Given the description of an element on the screen output the (x, y) to click on. 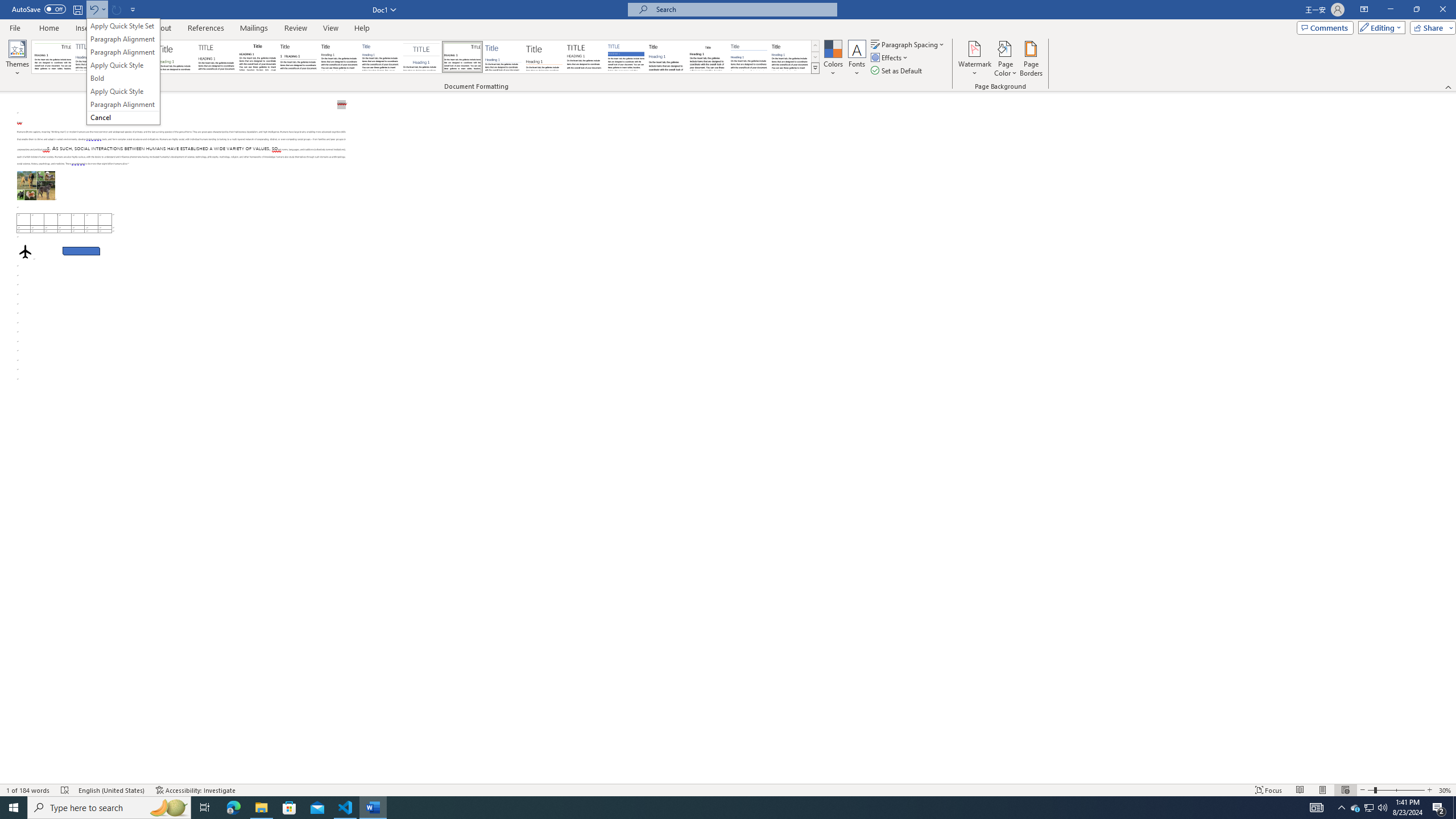
Can't Repeat (117, 9)
Black & White (Numbered) (298, 56)
Word 2010 (749, 56)
Undo Apply Quick Style Set (92, 9)
Word - 1 running window (373, 807)
Watermark (974, 58)
